Given the description of an element on the screen output the (x, y) to click on. 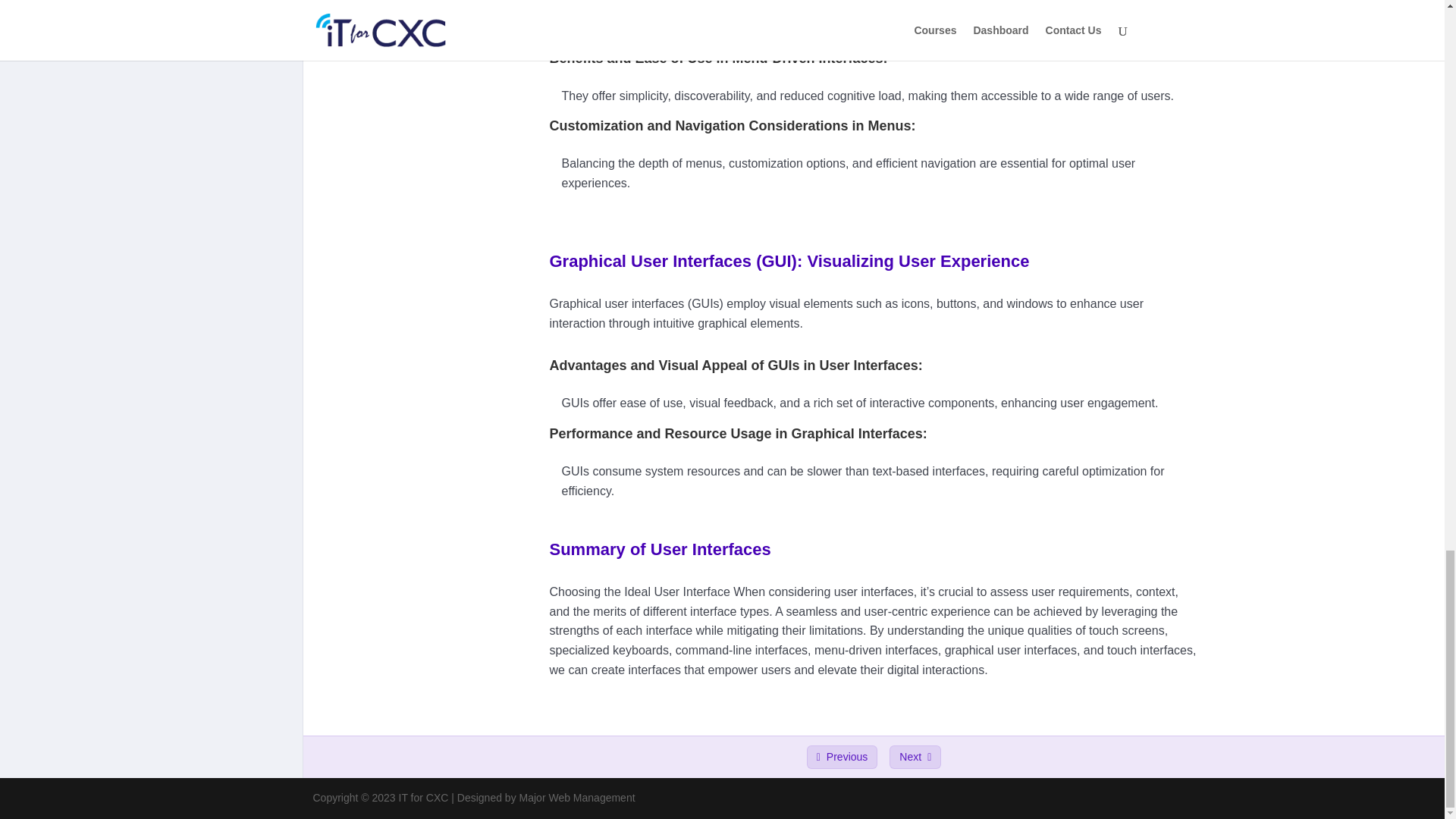
Next (914, 757)
Previous (841, 757)
